Given the description of an element on the screen output the (x, y) to click on. 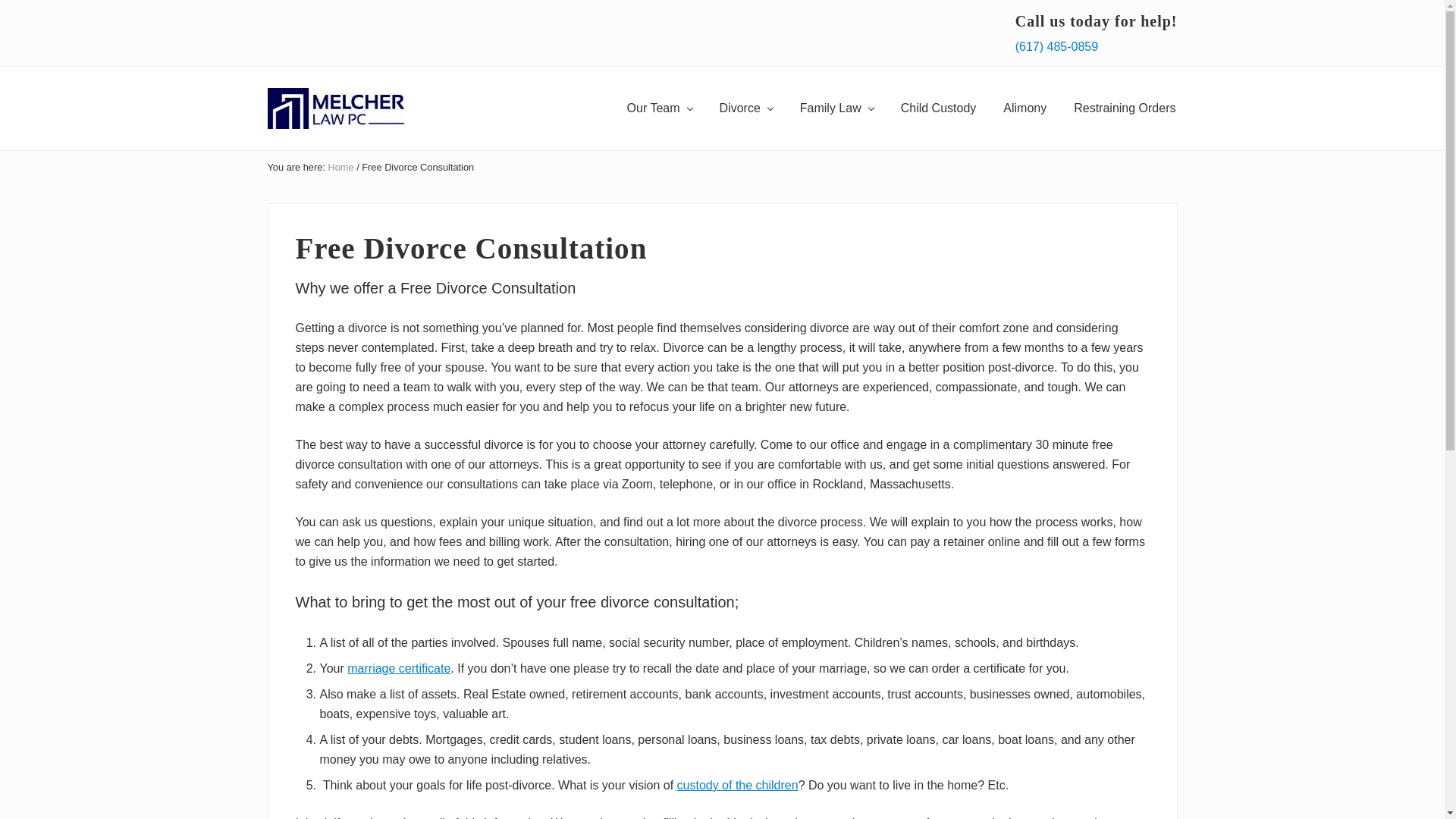
Divorce (745, 107)
Family Law (836, 107)
Our Team (659, 107)
Alimony (1024, 107)
marriage certificate (398, 667)
Home (340, 166)
custody of the children (737, 784)
Child Custody (938, 107)
Restraining Orders (1124, 107)
